Given the description of an element on the screen output the (x, y) to click on. 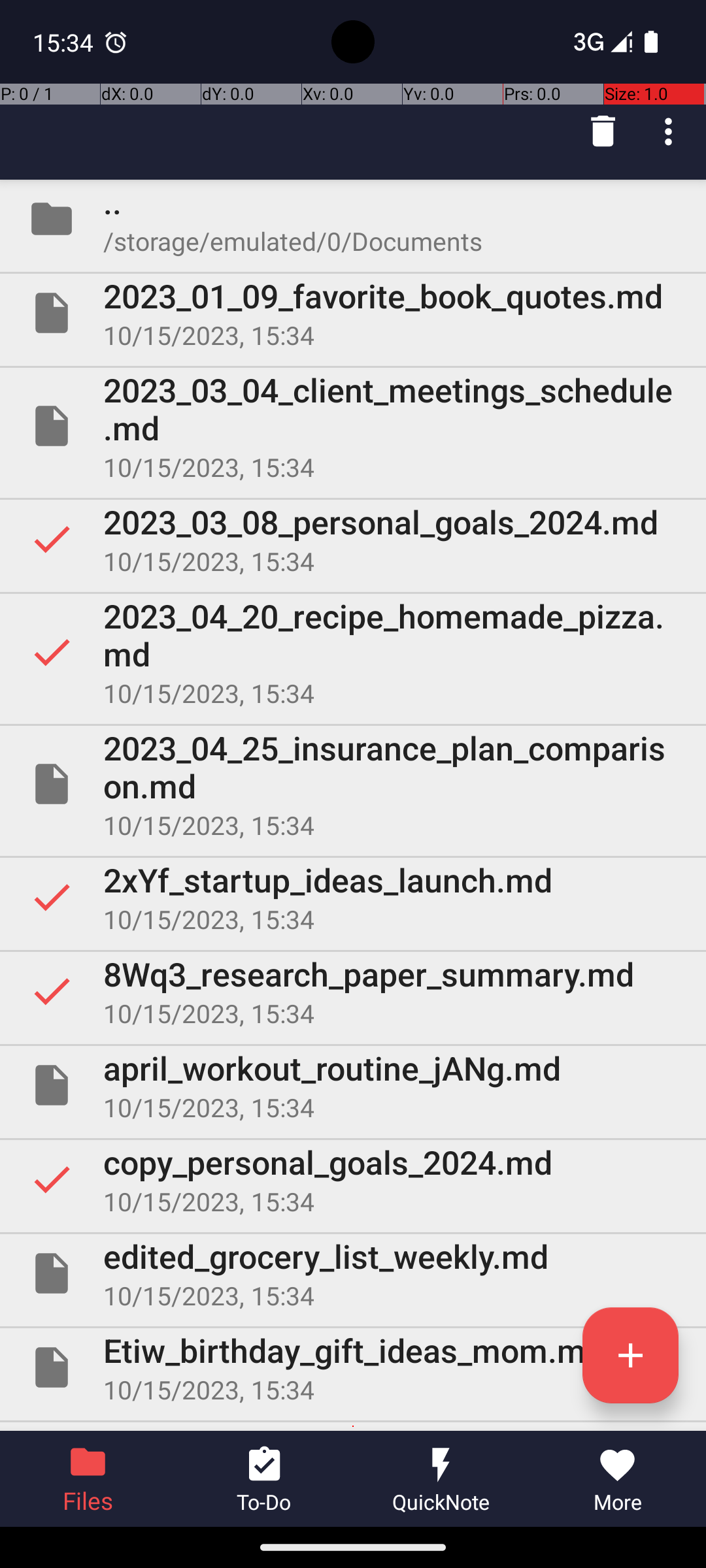
File 2023_01_09_favorite_book_quotes.md  Element type: android.widget.LinearLayout (353, 312)
File 2023_03_04_client_meetings_schedule.md  Element type: android.widget.LinearLayout (353, 425)
Selected 2023_03_08_personal_goals_2024.md  Element type: android.widget.LinearLayout (353, 538)
Selected 2023_04_20_recipe_homemade_pizza.md 10/15/2023, 15:34 Element type: android.widget.LinearLayout (353, 651)
File 2023_04_25_insurance_plan_comparison.md  Element type: android.widget.LinearLayout (353, 783)
Selected 2xYf_startup_ideas_launch.md 10/15/2023, 15:34 Element type: android.widget.LinearLayout (353, 896)
Selected 8Wq3_research_paper_summary.md 10/15/2023, 15:34 Element type: android.widget.LinearLayout (353, 990)
File april_workout_routine_jANg.md  Element type: android.widget.LinearLayout (353, 1084)
Selected copy_personal_goals_2024.md 10/15/2023, 15:34 Element type: android.widget.LinearLayout (353, 1179)
File edited_grocery_list_weekly.md  Element type: android.widget.LinearLayout (353, 1273)
File Etiw_birthday_gift_ideas_mom.md  Element type: android.widget.LinearLayout (353, 1367)
File J7k3_research_paper_summary.md 10/15/2023, 15:34 Element type: android.widget.LinearLayout (353, 1426)
